Given the description of an element on the screen output the (x, y) to click on. 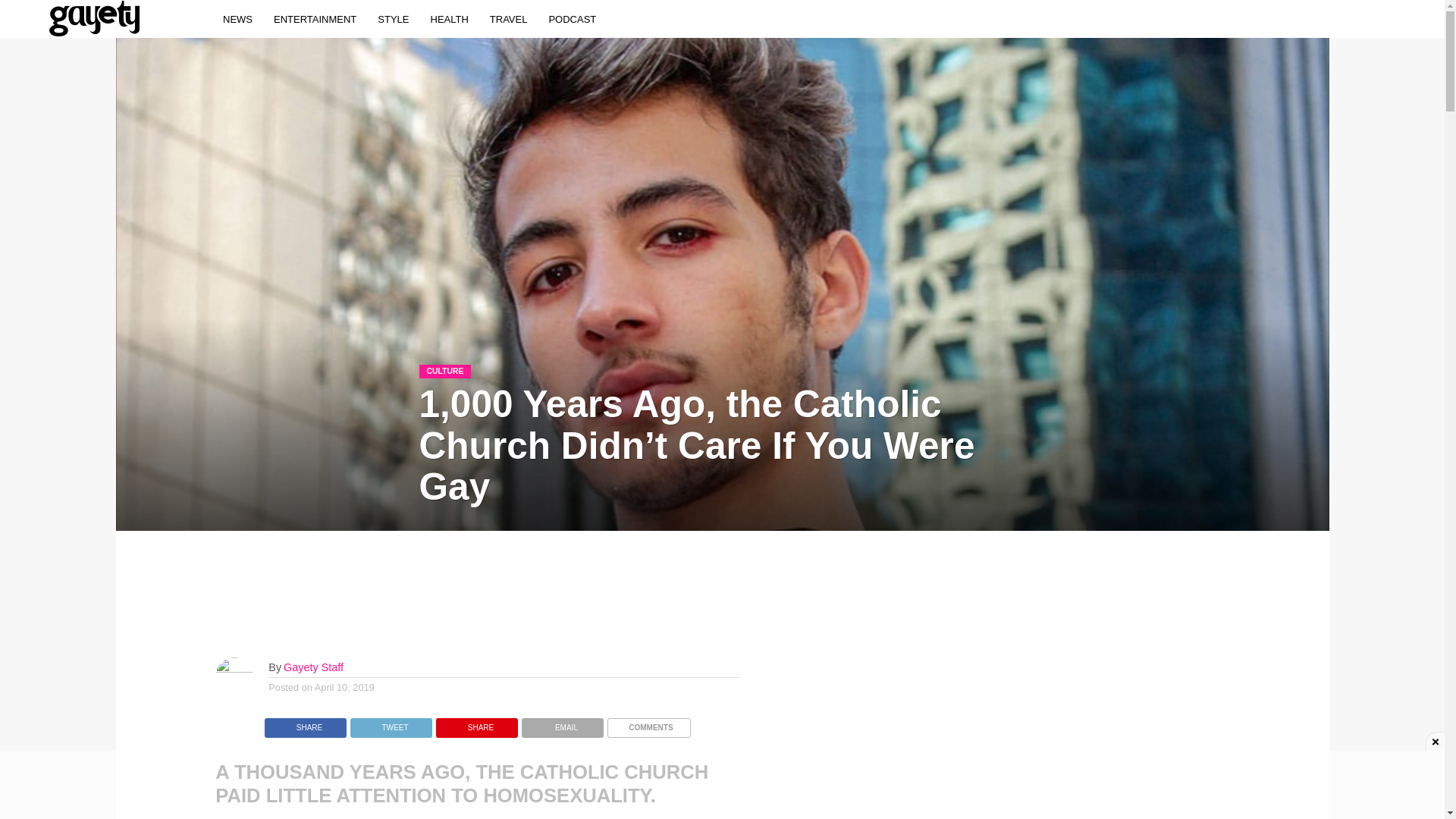
EMAIL (562, 723)
COMMENTS (648, 723)
3rd party ad content (602, 592)
3rd party ad content (721, 785)
HEALTH (449, 18)
TRAVEL (508, 18)
Tweet This Post (390, 723)
ENTERTAINMENT (314, 18)
STYLE (392, 18)
TWEET (390, 723)
CULTURE (444, 369)
PODCAST (572, 18)
SHARE (305, 723)
NEWS (237, 18)
Posts by Gayety Staff (313, 666)
